Given the description of an element on the screen output the (x, y) to click on. 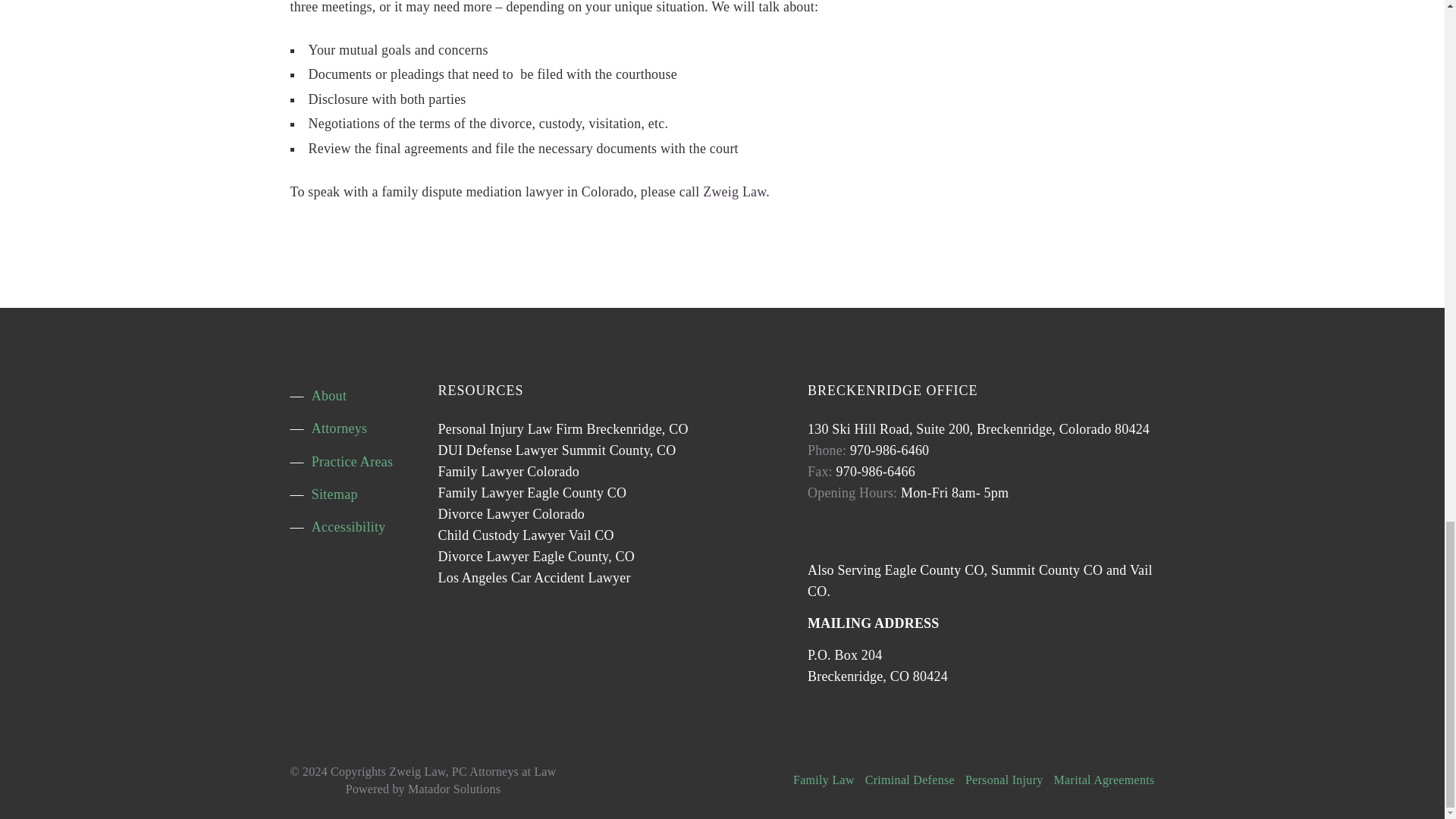
Personal Injury Law Firm Breckenridge, CO (563, 428)
Attorneys (339, 428)
Accessibility (348, 527)
Divorce Lawyer Eagle County, CO (536, 556)
DUI Defense Lawyer Summit County, CO (557, 450)
Los Angeles Car Accident Lawyer (534, 577)
Zweig Law (734, 191)
Child Custody Lawyer Vail CO (526, 534)
Family Lawyer Colorado (508, 471)
Divorce Lawyer Colorado (511, 513)
